Given the description of an element on the screen output the (x, y) to click on. 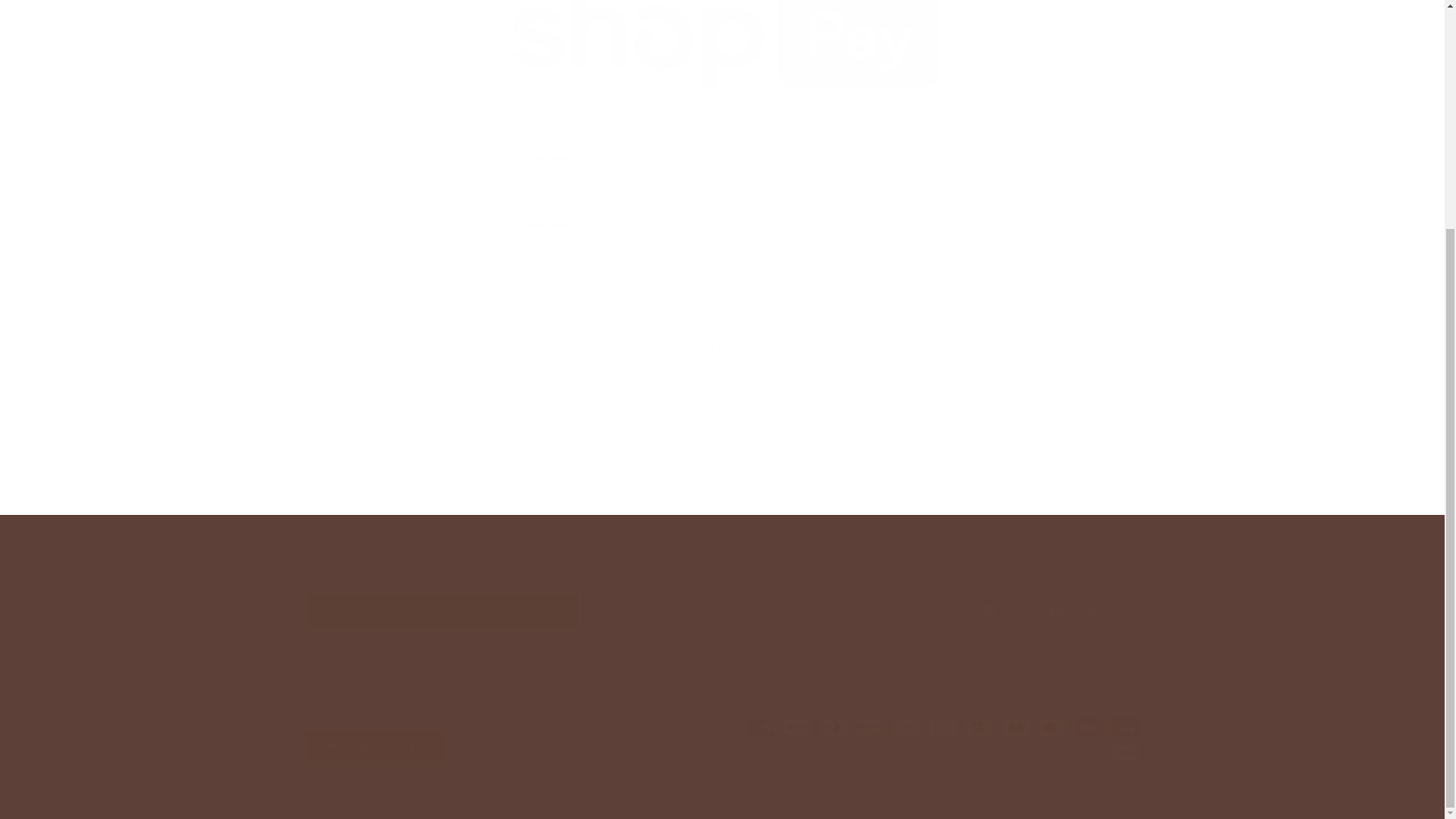
1 (722, 280)
